Given the description of an element on the screen output the (x, y) to click on. 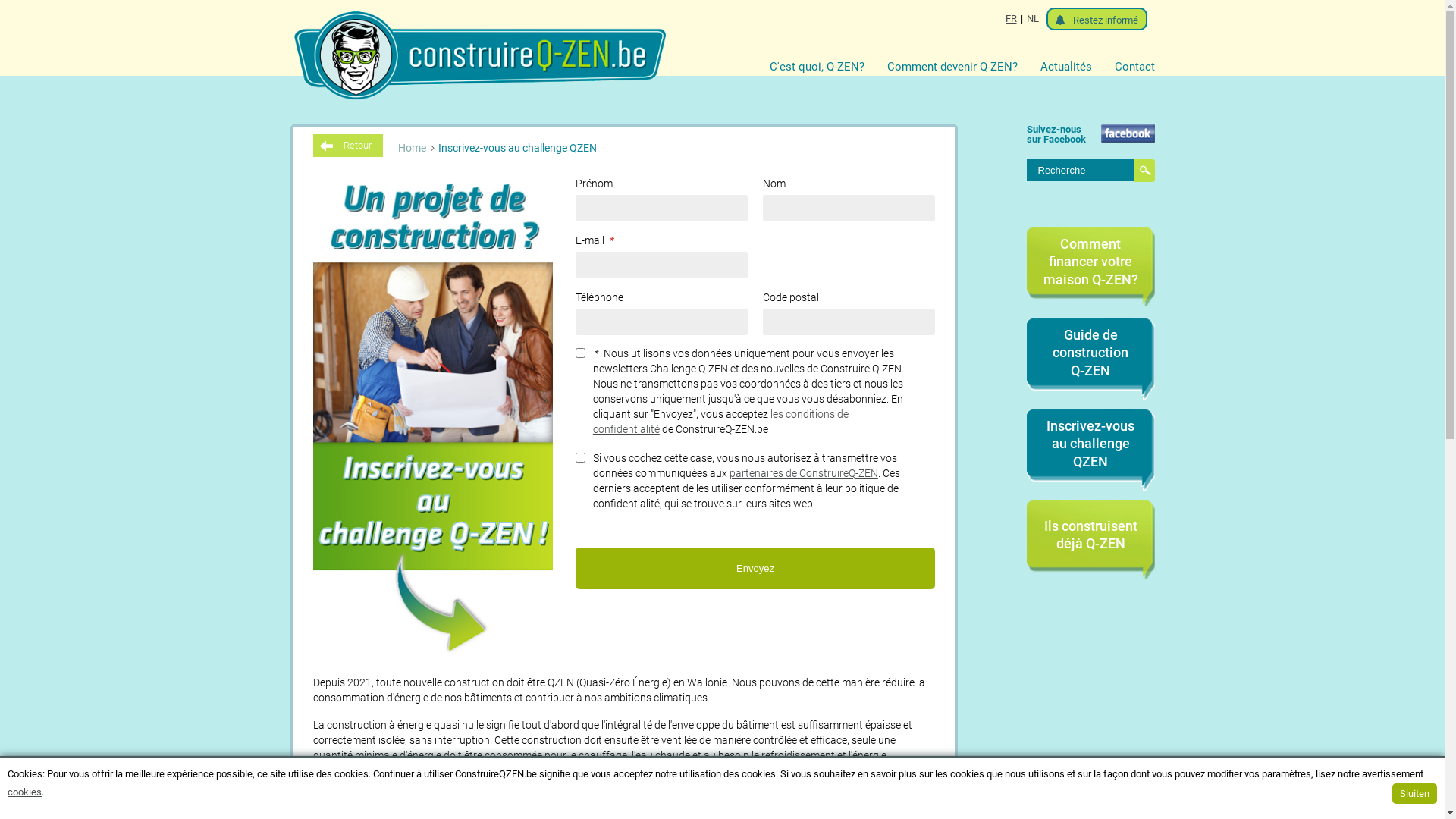
Suivez-nous
sur Facebook Element type: text (1090, 134)
FR Element type: text (1010, 18)
C'est quoi, Q-ZEN? Element type: text (827, 66)
Retour Element type: text (347, 145)
Sluiten Element type: text (1414, 793)
Comment financer votre maison Q-ZEN? Element type: text (1090, 261)
cookies Element type: text (24, 791)
Home Element type: text (411, 147)
Guide de construction
Q-ZEN Element type: text (1090, 352)
partenaires de ConstruireQ-ZEN Element type: text (803, 473)
Inscrivez-vous au challenge QZEN Element type: text (1090, 443)
Envoyez Element type: text (755, 568)
Inscrivez-vous au challenge QZEN Element type: text (513, 147)
NL Element type: text (1032, 18)
Comment devenir Q-ZEN? Element type: text (963, 66)
Contact Element type: text (1134, 66)
